Given the description of an element on the screen output the (x, y) to click on. 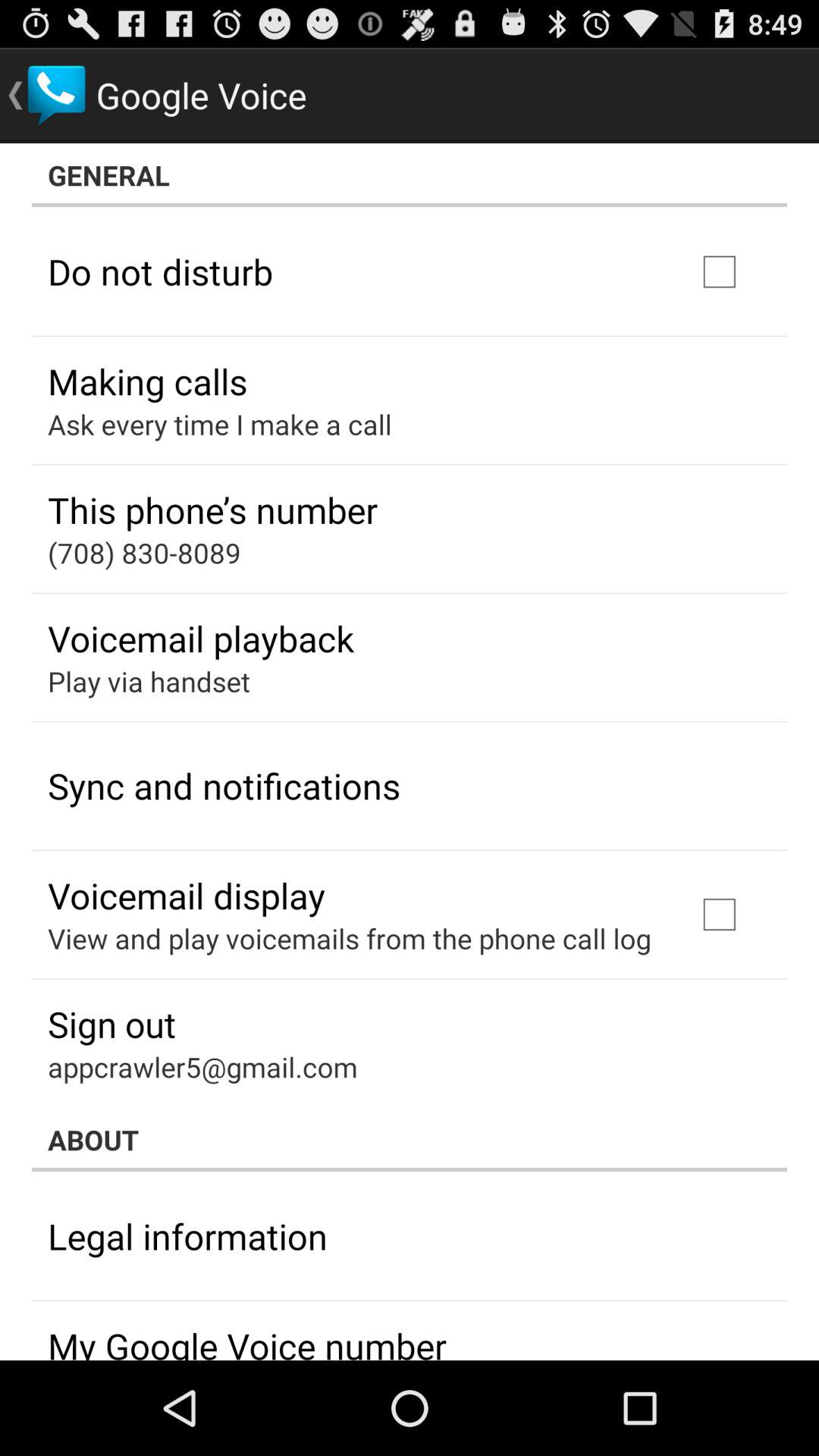
click item at the top (409, 175)
